Given the description of an element on the screen output the (x, y) to click on. 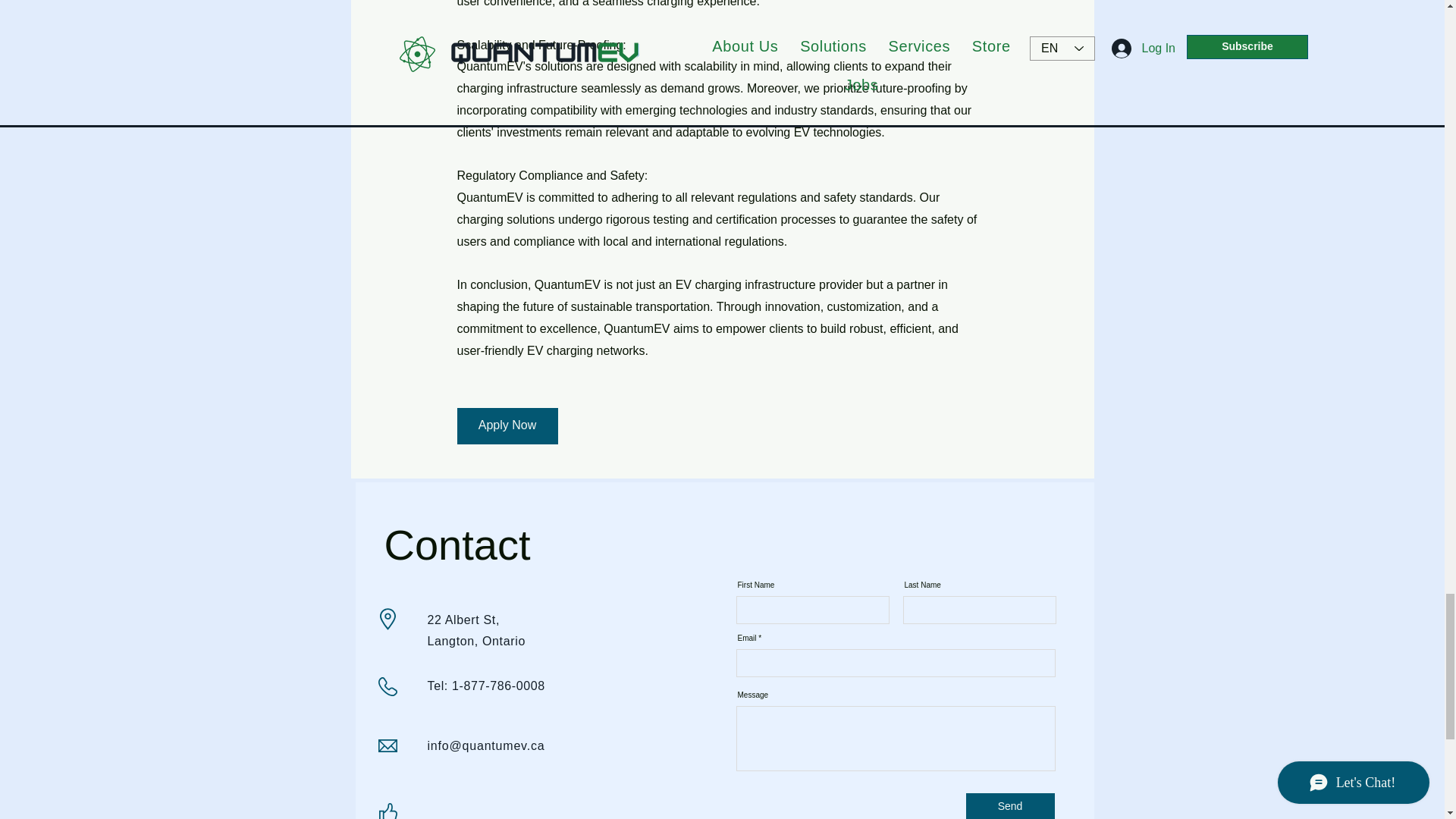
Send (1010, 806)
